Given the description of an element on the screen output the (x, y) to click on. 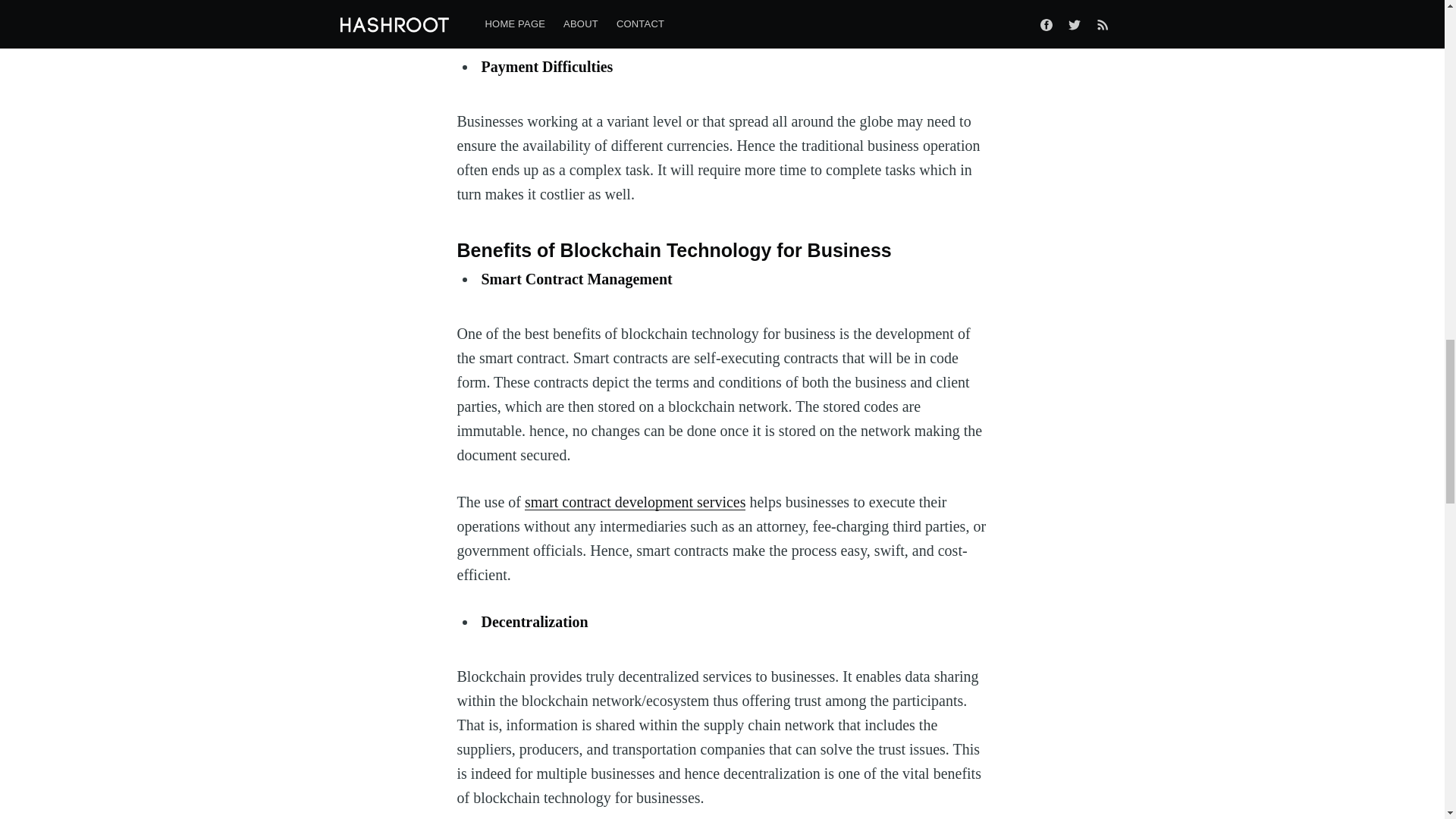
smart contract development services (634, 501)
